Given the description of an element on the screen output the (x, y) to click on. 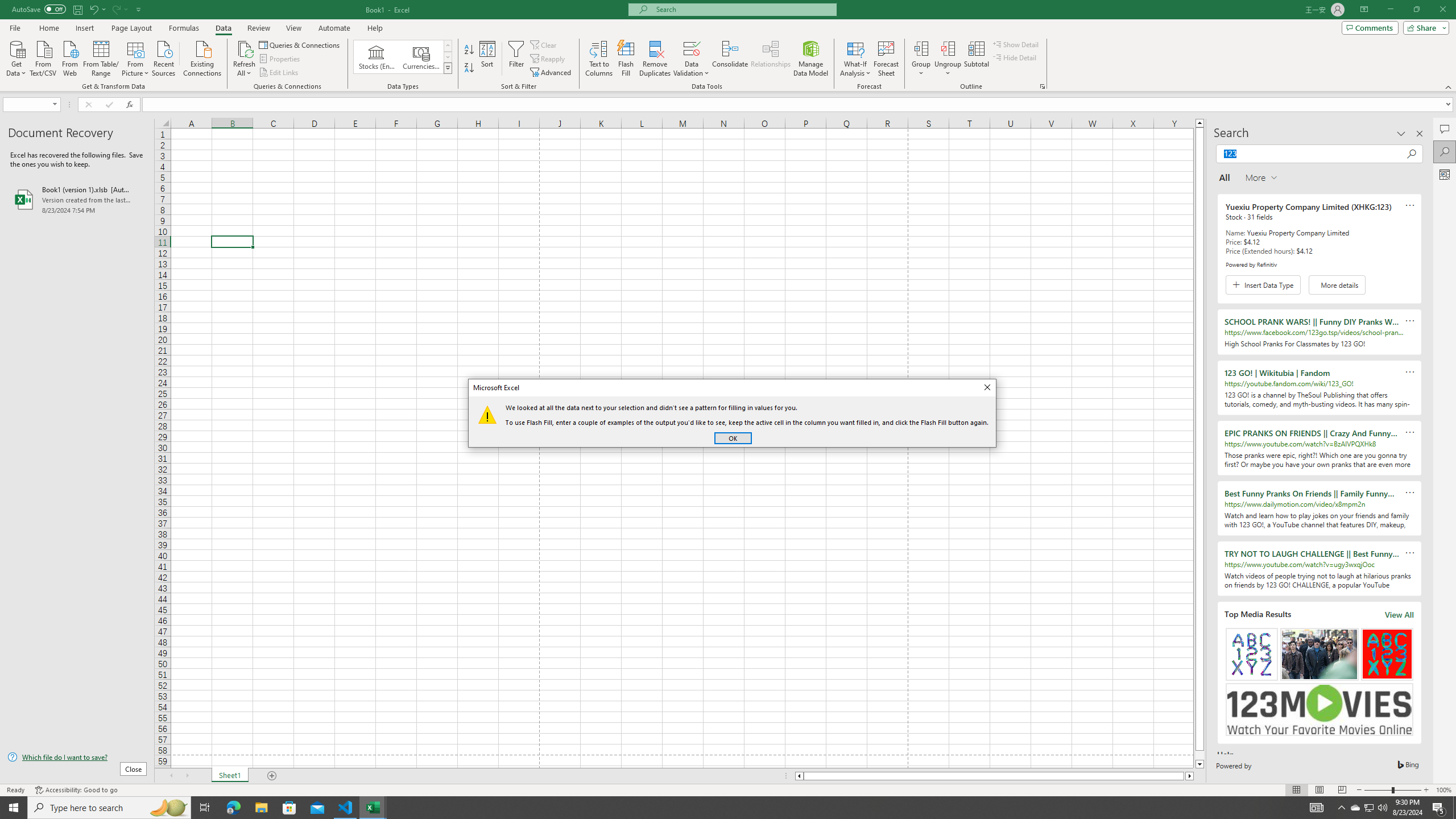
Sort A to Z (469, 49)
